Given the description of an element on the screen output the (x, y) to click on. 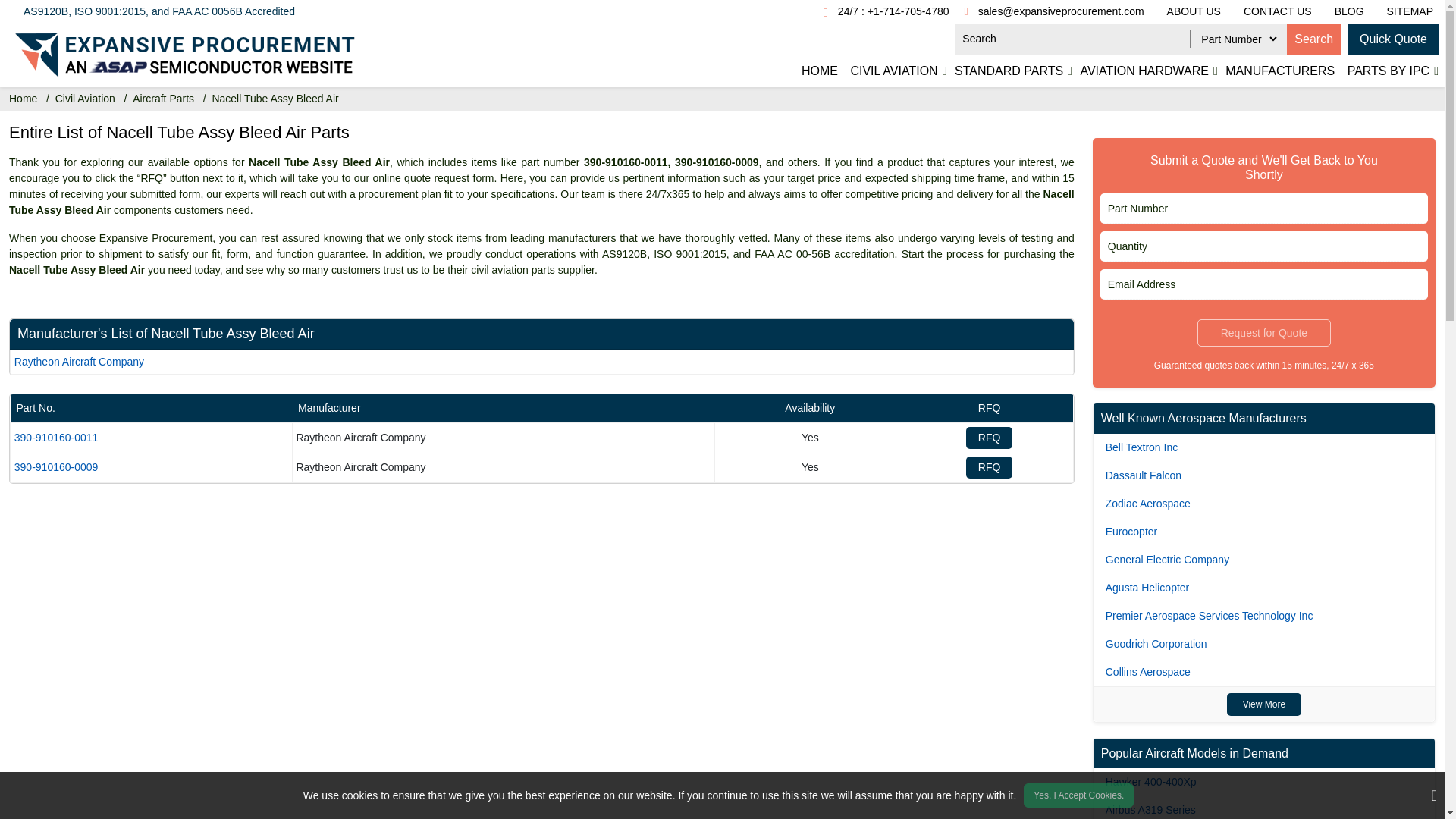
MANUFACTURERS (1280, 70)
CIVIL AVIATION (893, 70)
Home (22, 98)
SITEMAP (1403, 10)
Search (1313, 38)
ABOUT US (1193, 10)
AVIATION HARDWARE (1143, 70)
BLOG (1349, 10)
HOME (819, 70)
PARTS BY IPC (1388, 70)
Civil Aviation (85, 98)
STANDARD PARTS (1008, 70)
Quick Quote (1393, 38)
CONTACT US (1277, 10)
